Given the description of an element on the screen output the (x, y) to click on. 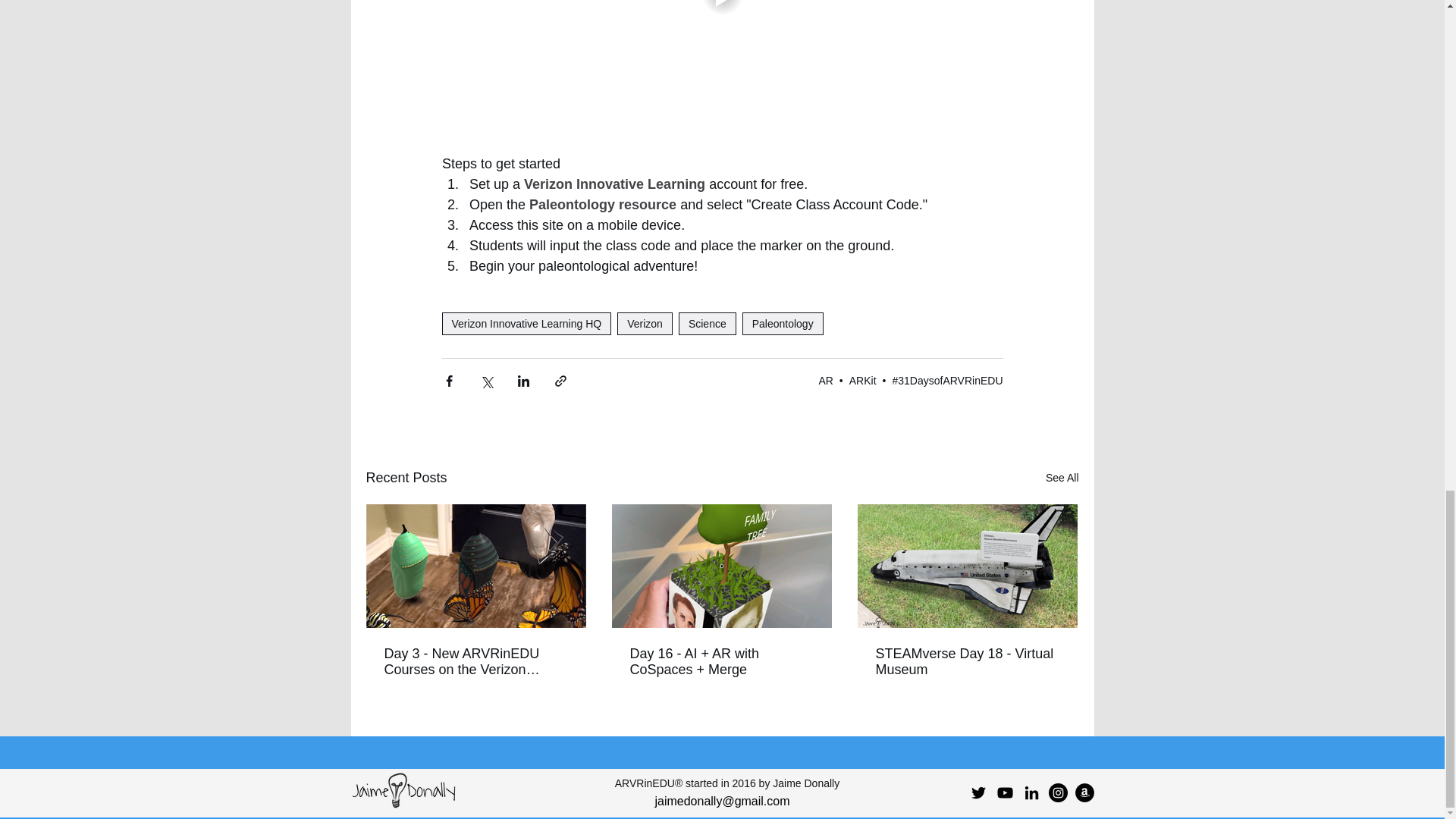
Verizon Innovative Learning HQ (526, 323)
Science (707, 323)
Verizon Innovative Learning (614, 184)
Verizon (644, 323)
Paleontology resource (603, 205)
Paleontology (783, 323)
